Given the description of an element on the screen output the (x, y) to click on. 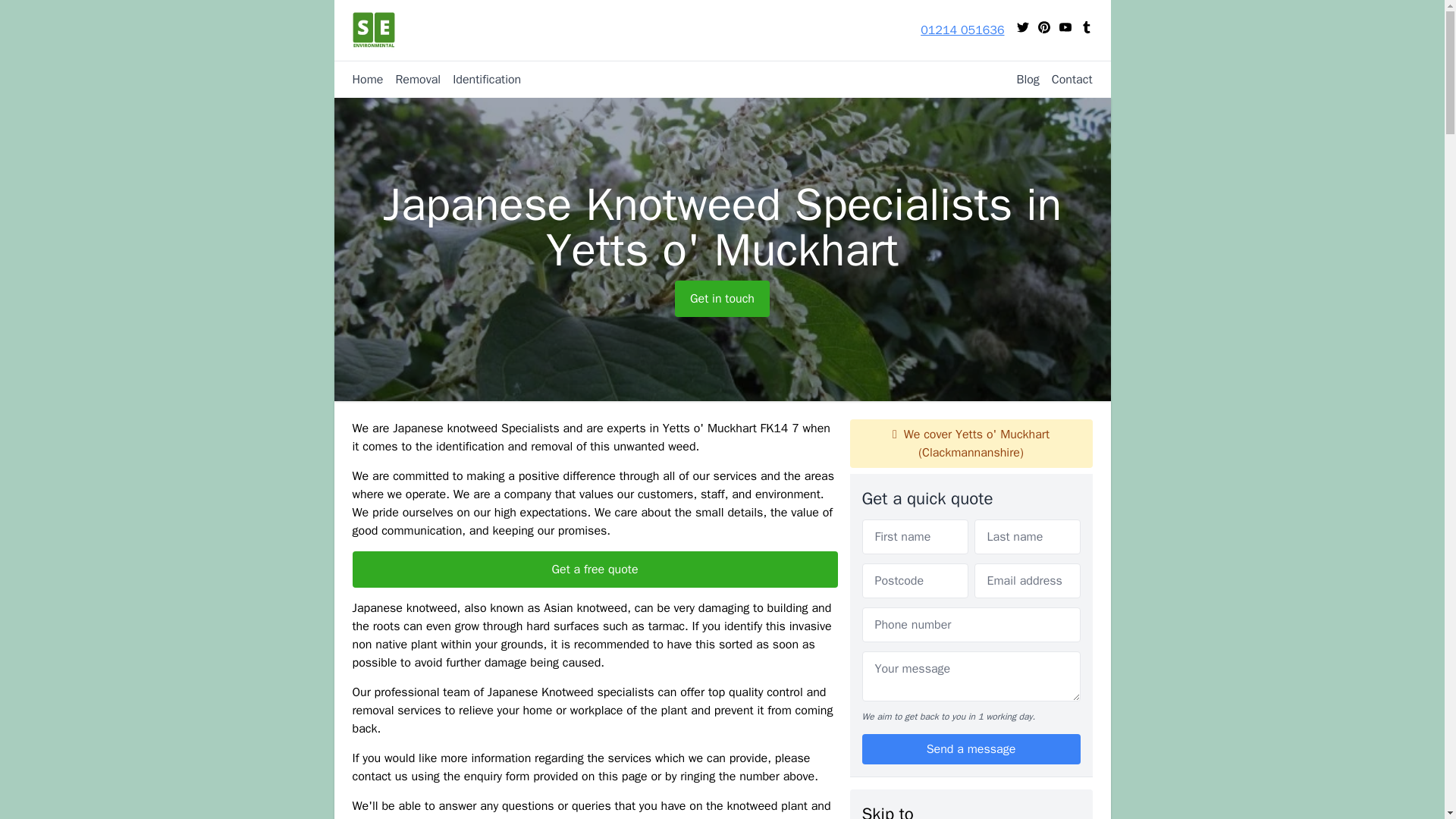
Removal (411, 79)
Get in touch (722, 298)
Contact (1066, 79)
Send a message (970, 748)
Identification (481, 79)
Home (367, 79)
Blog (1021, 79)
Get a free quote (594, 569)
01214 051636 (962, 29)
